Given the description of an element on the screen output the (x, y) to click on. 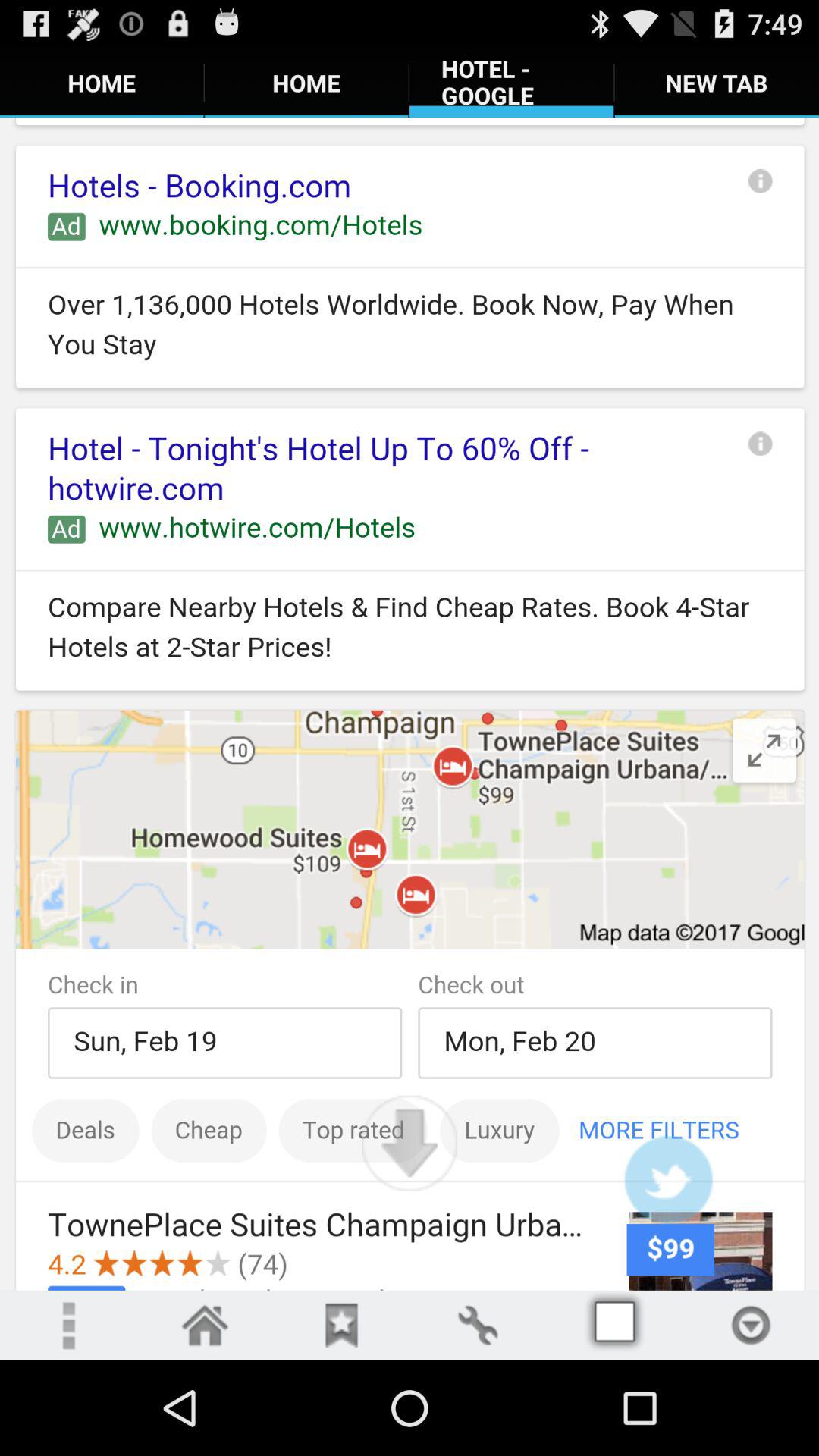
home button (204, 1325)
